Given the description of an element on the screen output the (x, y) to click on. 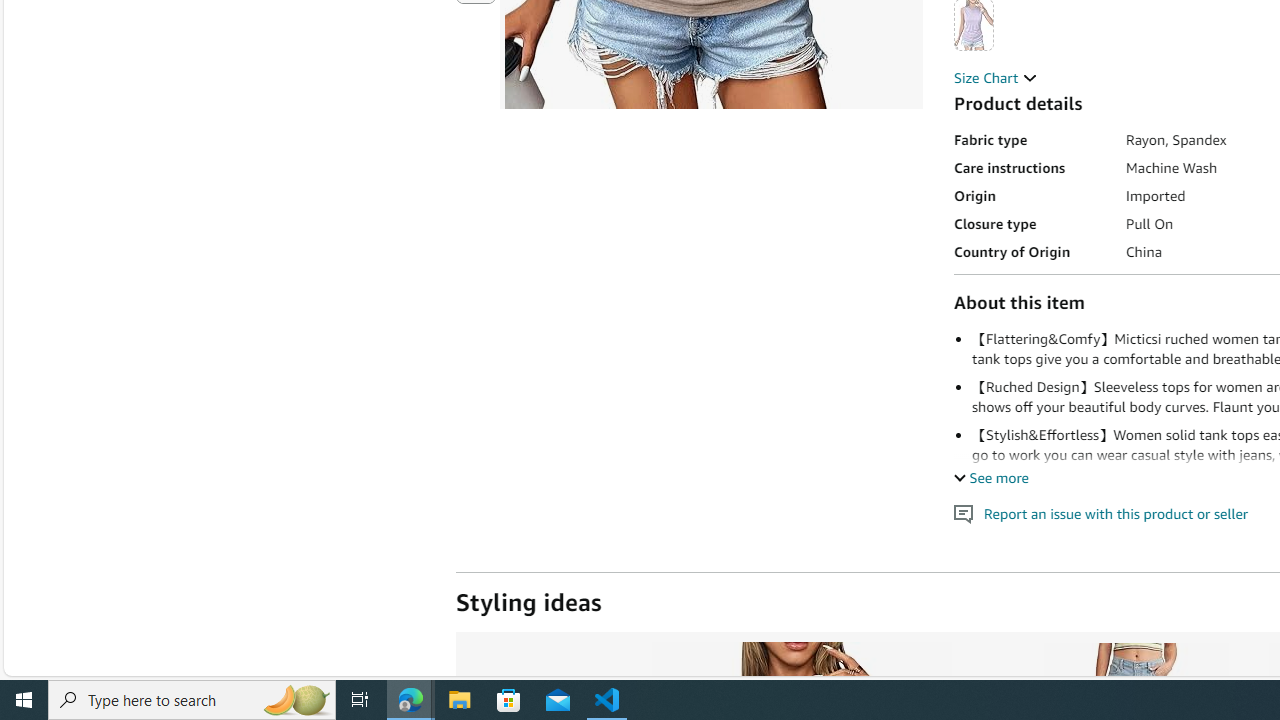
Report an issue with this product or seller (963, 514)
Light Purple (974, 24)
Light Purple (974, 24)
Size Chart  (995, 77)
